Given the description of an element on the screen output the (x, y) to click on. 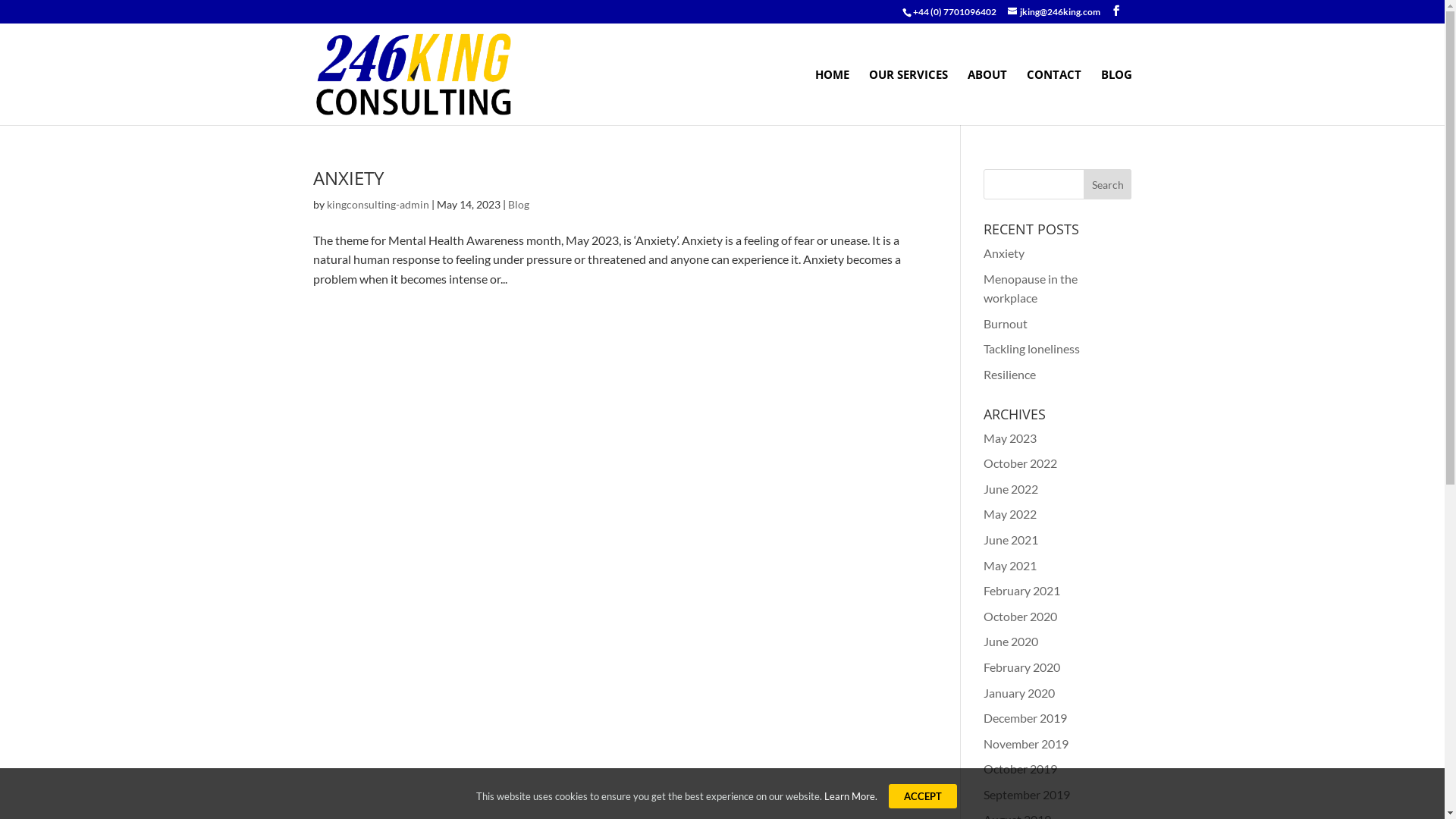
OUR SERVICES Element type: text (908, 97)
Learn More. Element type: text (850, 795)
January 2020 Element type: text (1018, 692)
ACCEPT Element type: text (922, 796)
May 2022 Element type: text (1009, 513)
September 2019 Element type: text (1026, 794)
kingconsulting-admin Element type: text (377, 203)
June 2022 Element type: text (1010, 488)
CONTACT Element type: text (1053, 97)
November 2019 Element type: text (1025, 743)
Resilience Element type: text (1009, 374)
BLOG Element type: text (1116, 97)
ABOUT Element type: text (987, 97)
Burnout Element type: text (1005, 323)
Tackling loneliness Element type: text (1031, 348)
October 2022 Element type: text (1020, 462)
Blog Element type: text (518, 203)
December 2019 Element type: text (1024, 717)
Anxiety Element type: text (1003, 252)
Menopause in the workplace Element type: text (1030, 288)
HOME Element type: text (831, 97)
February 2021 Element type: text (1021, 590)
Search Element type: text (1107, 184)
June 2021 Element type: text (1010, 539)
May 2021 Element type: text (1009, 565)
February 2020 Element type: text (1021, 666)
October 2020 Element type: text (1020, 615)
May 2023 Element type: text (1009, 437)
October 2019 Element type: text (1020, 768)
jking@246king.com Element type: text (1053, 11)
June 2020 Element type: text (1010, 640)
ANXIETY Element type: text (347, 177)
